Given the description of an element on the screen output the (x, y) to click on. 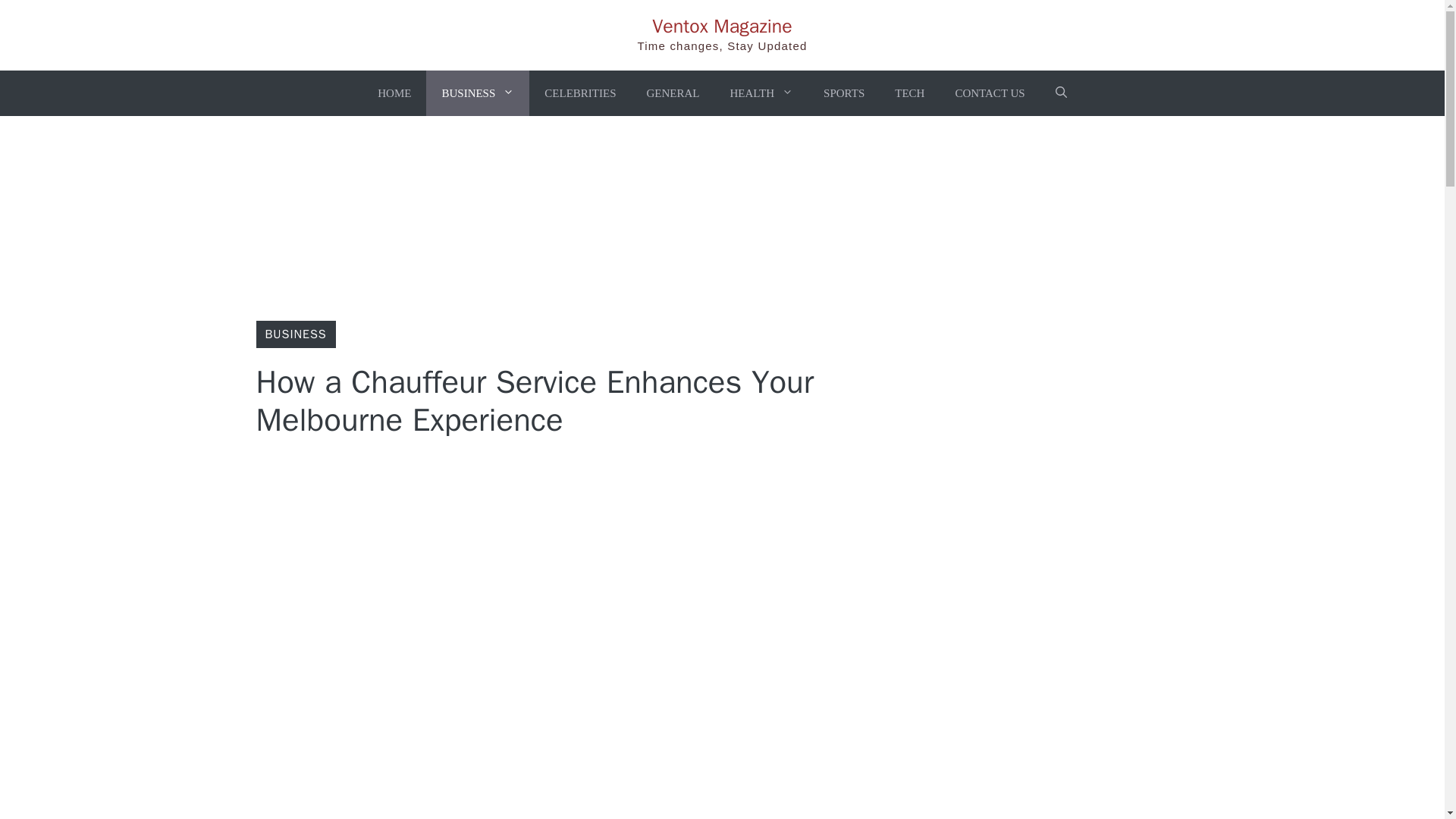
Ventox Magazine (722, 25)
HOME (394, 92)
TECH (909, 92)
HEALTH (761, 92)
GENERAL (672, 92)
CELEBRITIES (579, 92)
BUSINESS (477, 92)
CONTACT US (989, 92)
BUSINESS (295, 333)
SPORTS (843, 92)
